Given the description of an element on the screen output the (x, y) to click on. 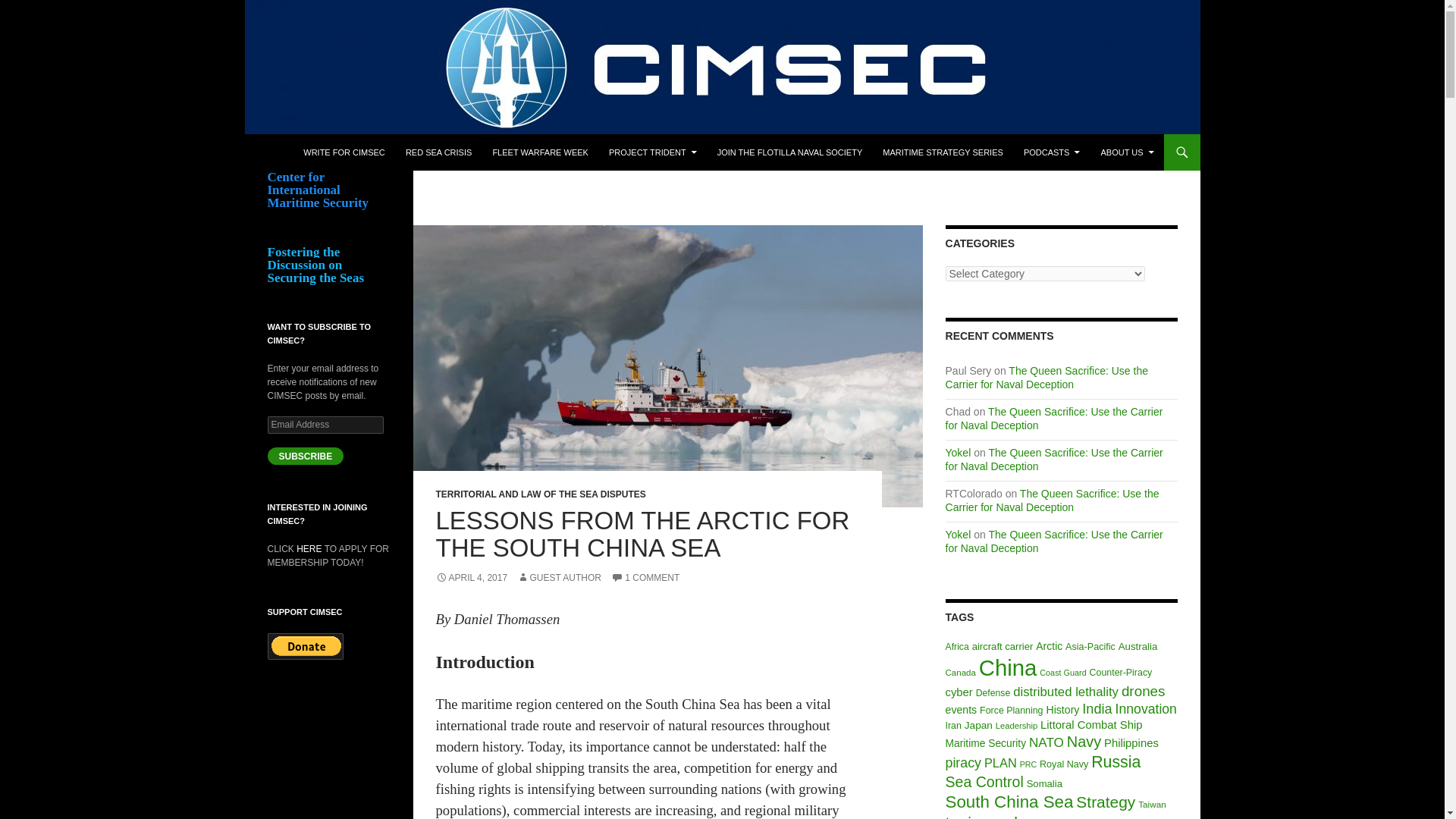
RED SEA CRISIS (438, 152)
Center for International Maritime Security (400, 152)
GUEST AUTHOR (557, 577)
PROJECT TRIDENT (652, 152)
MARITIME STRATEGY SERIES (942, 152)
ABOUT US (1125, 152)
1 COMMENT (645, 577)
PODCASTS (1051, 152)
FLEET WARFARE WEEK (539, 152)
WRITE FOR CIMSEC (344, 152)
APRIL 4, 2017 (470, 577)
TERRITORIAL AND LAW OF THE SEA DISPUTES (540, 493)
JOIN THE FLOTILLA NAVAL SOCIETY (789, 152)
